Given the description of an element on the screen output the (x, y) to click on. 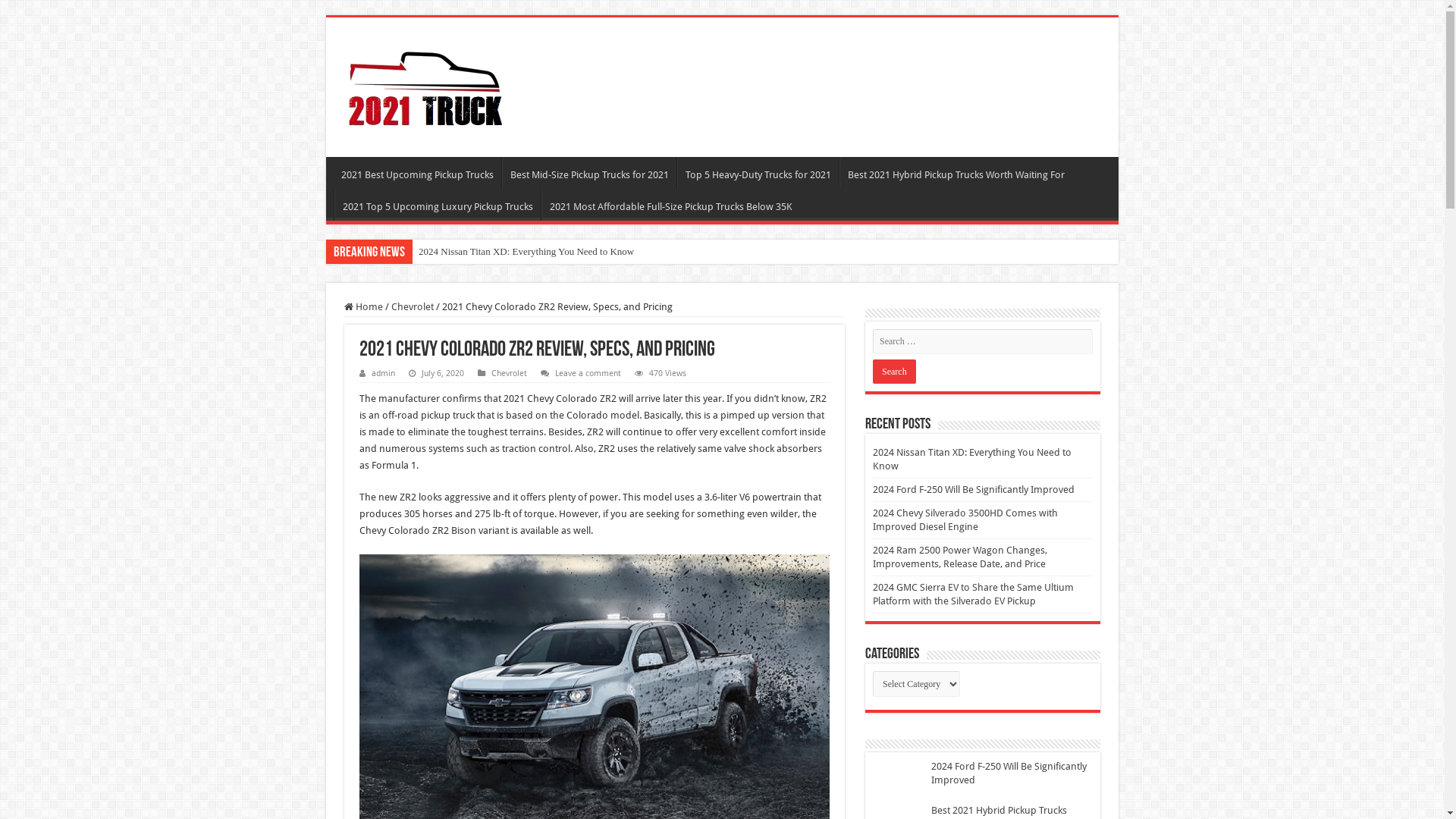
2024 Ford F-250 Will Be Significantly Improved Element type: text (1008, 772)
Leave a comment Element type: text (588, 373)
Best Mid-Size Pickup Trucks for 2021 Element type: text (589, 172)
admin Element type: text (383, 373)
Best 2021 Hybrid Pickup Trucks Worth Waiting For Element type: text (955, 172)
Chevrolet Element type: text (509, 373)
2021 Most Affordable Full-Size Pickup Trucks Below 35K Element type: text (670, 204)
2024 Ford F-250 Will Be Significantly Improved Element type: text (973, 489)
Home Element type: text (363, 306)
Chevrolet Element type: text (412, 306)
Top 5 Heavy-Duty Trucks for 2021 Element type: text (757, 172)
2021 Top 5 Upcoming Luxury Pickup Trucks Element type: text (437, 204)
2021 Best Upcoming Pickup Trucks Element type: text (417, 172)
2024 Nissan Titan XD: Everything You Need to Know Element type: text (971, 458)
Search Element type: text (894, 371)
2024 Nissan Titan XD: Everything You Need to Know Element type: text (601, 251)
